Given the description of an element on the screen output the (x, y) to click on. 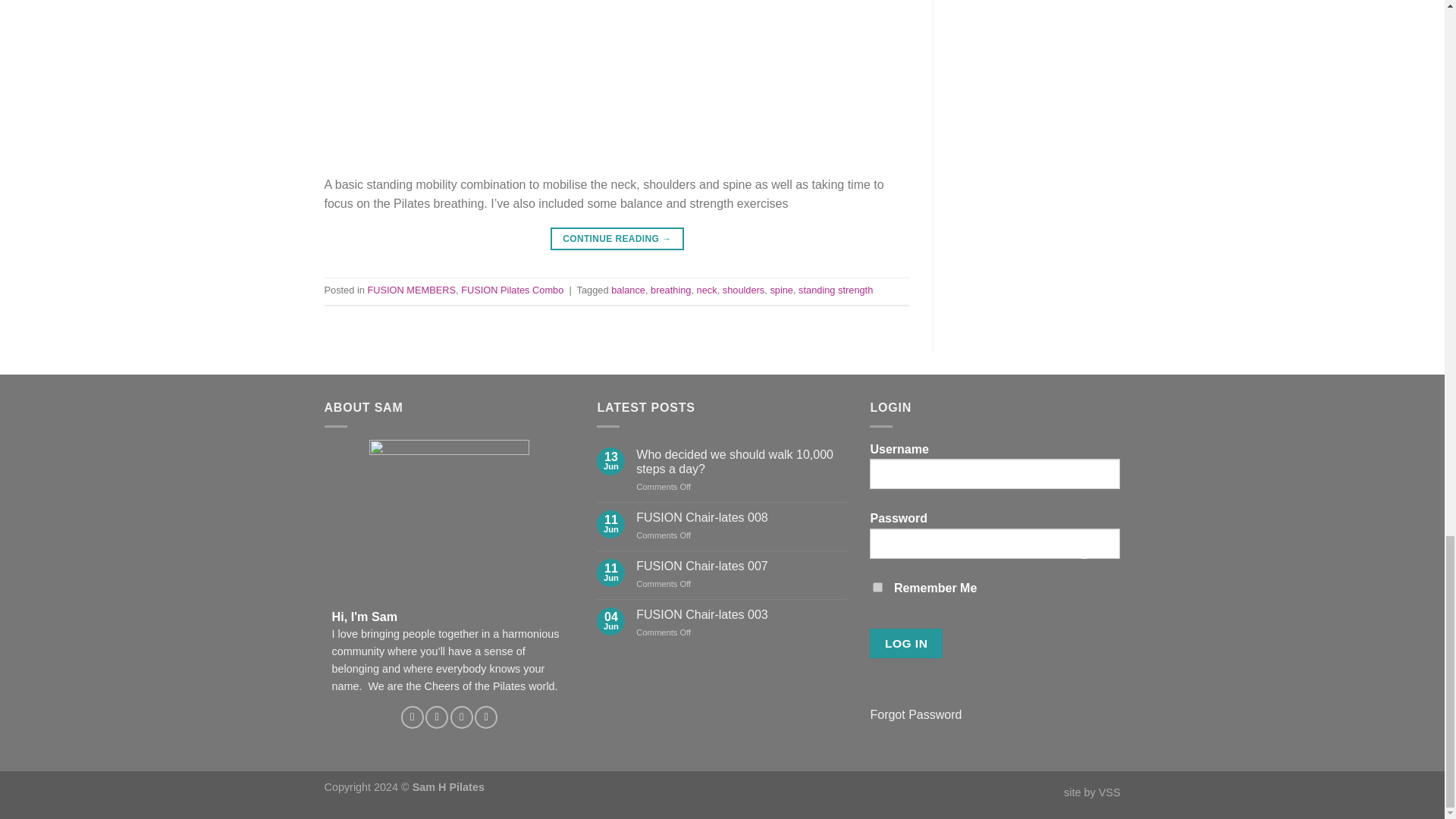
Follow on Facebook (412, 716)
forever (877, 587)
Follow on Instagram (436, 716)
Log In (905, 643)
